Given the description of an element on the screen output the (x, y) to click on. 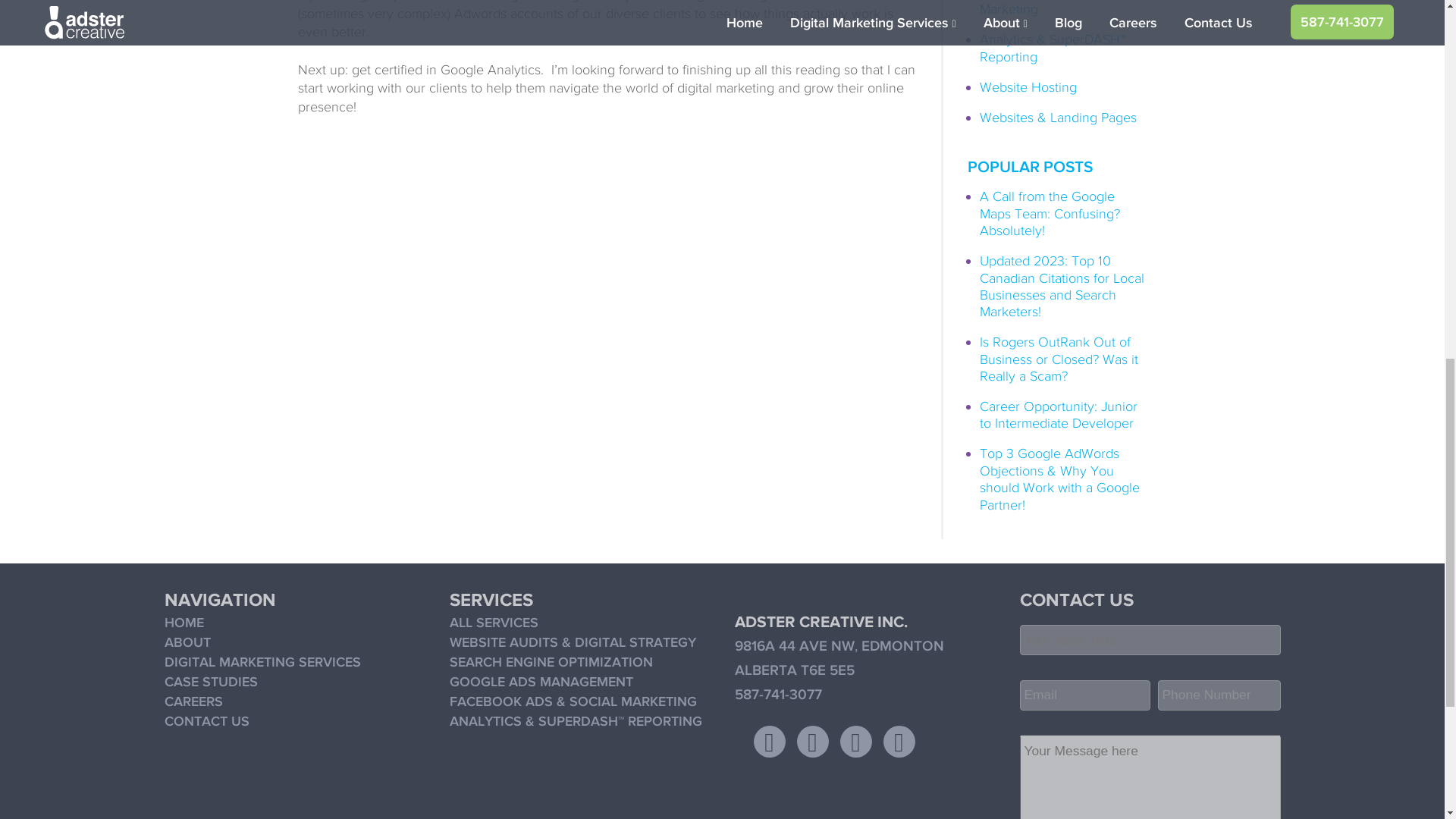
Phone Number (1218, 695)
Email (1084, 695)
